Given the description of an element on the screen output the (x, y) to click on. 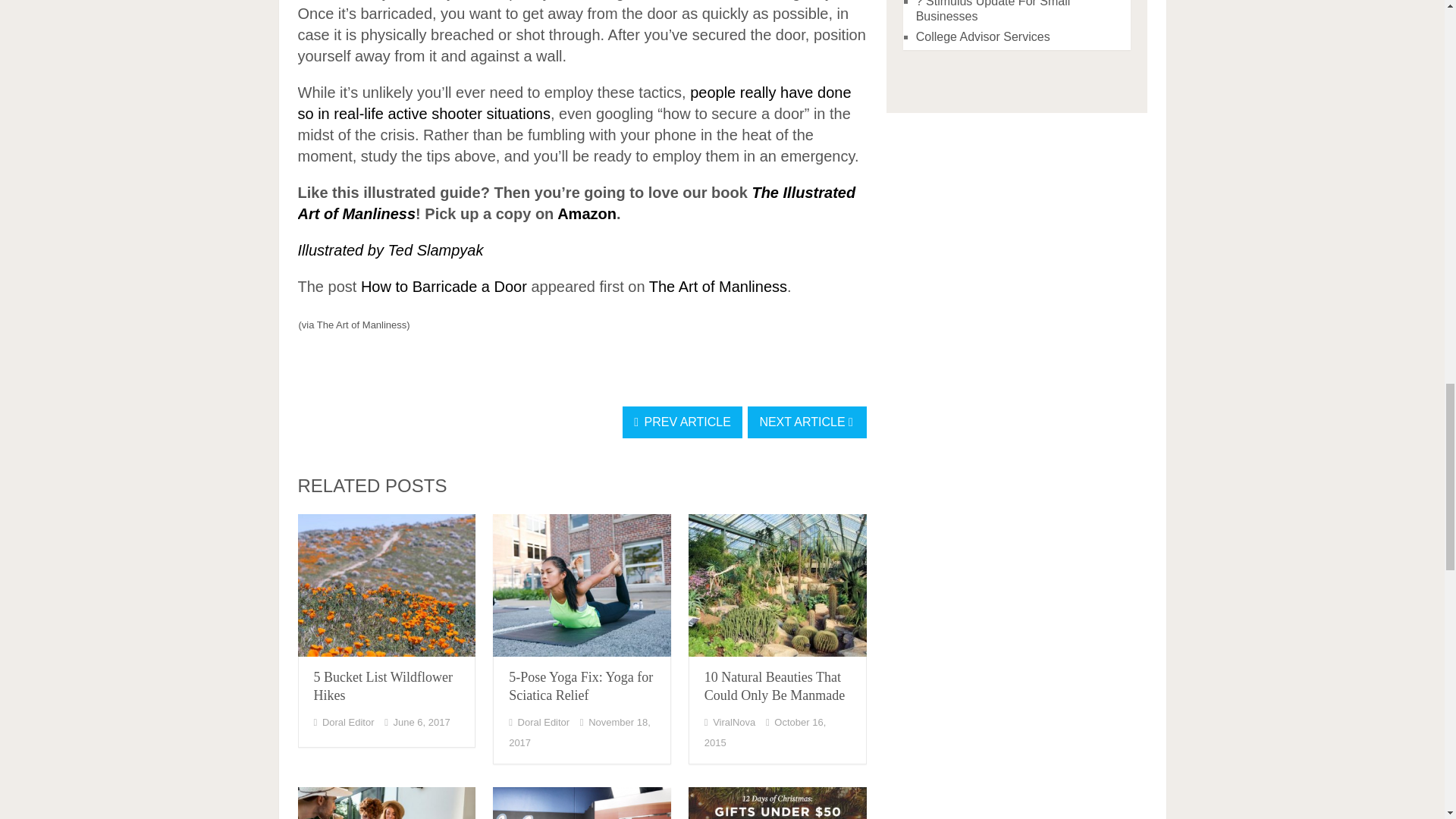
5 Bucket List Wildflower Hikes (386, 585)
Illustrated by Ted Slampyak (390, 249)
Amazon (586, 213)
How to Barricade a Door (444, 286)
Posts by Doral Editor (347, 722)
10 Natural Beauties That Could Only Be Manmade (774, 685)
PREV ARTICLE (682, 422)
NEXT ARTICLE (807, 422)
5 Pitfalls That Lead to Overeating and What to Do About Them (386, 803)
5-Pose Yoga Fix: Yoga for Sciatica Relief (582, 585)
The Art of Manliness (718, 286)
5 Bucket List Wildflower Hikes (383, 685)
Posts by ViralNova (734, 722)
The Illustrated Art of Manliness (576, 202)
